Given the description of an element on the screen output the (x, y) to click on. 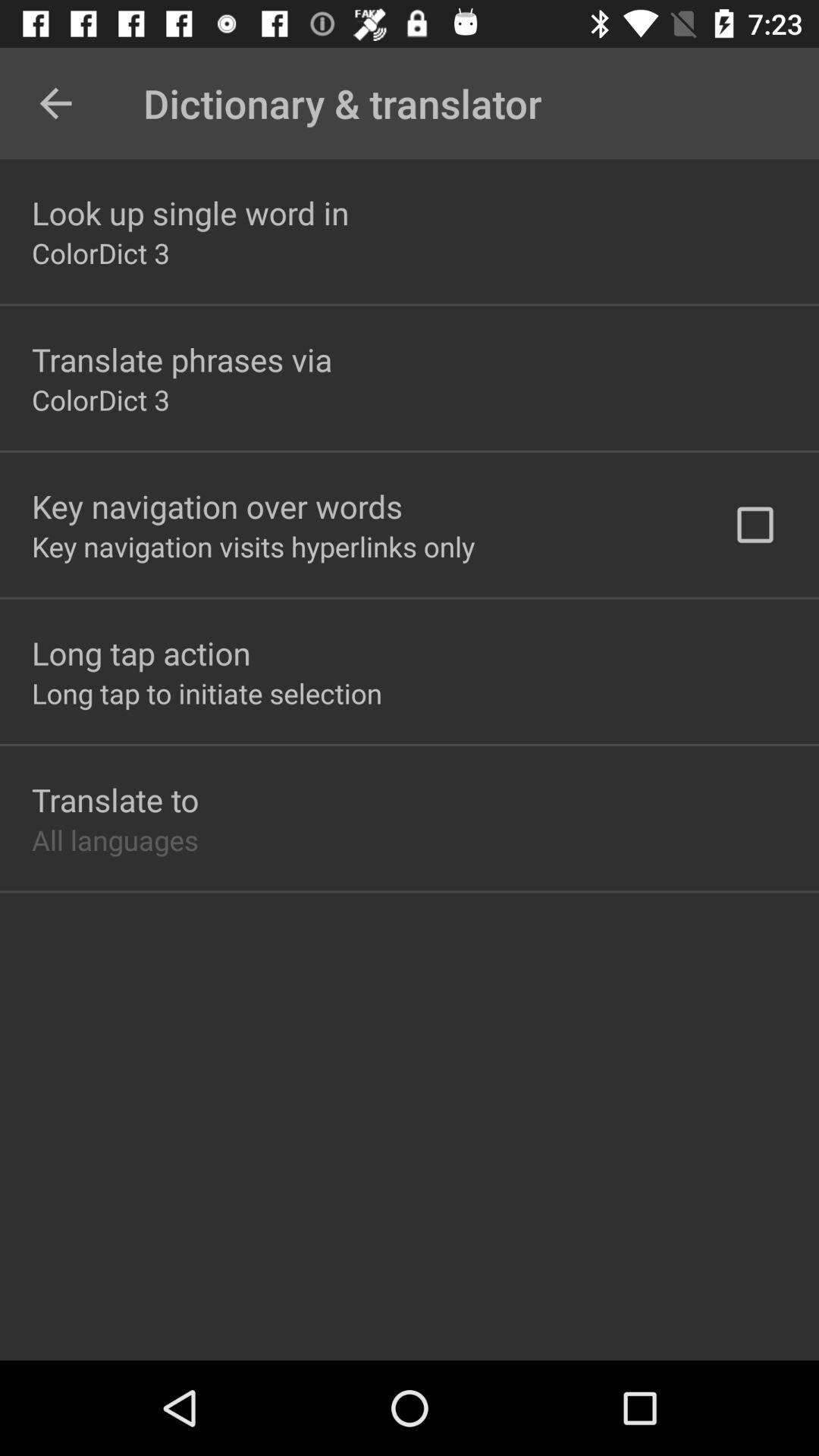
click the translate phrases via (181, 359)
